Given the description of an element on the screen output the (x, y) to click on. 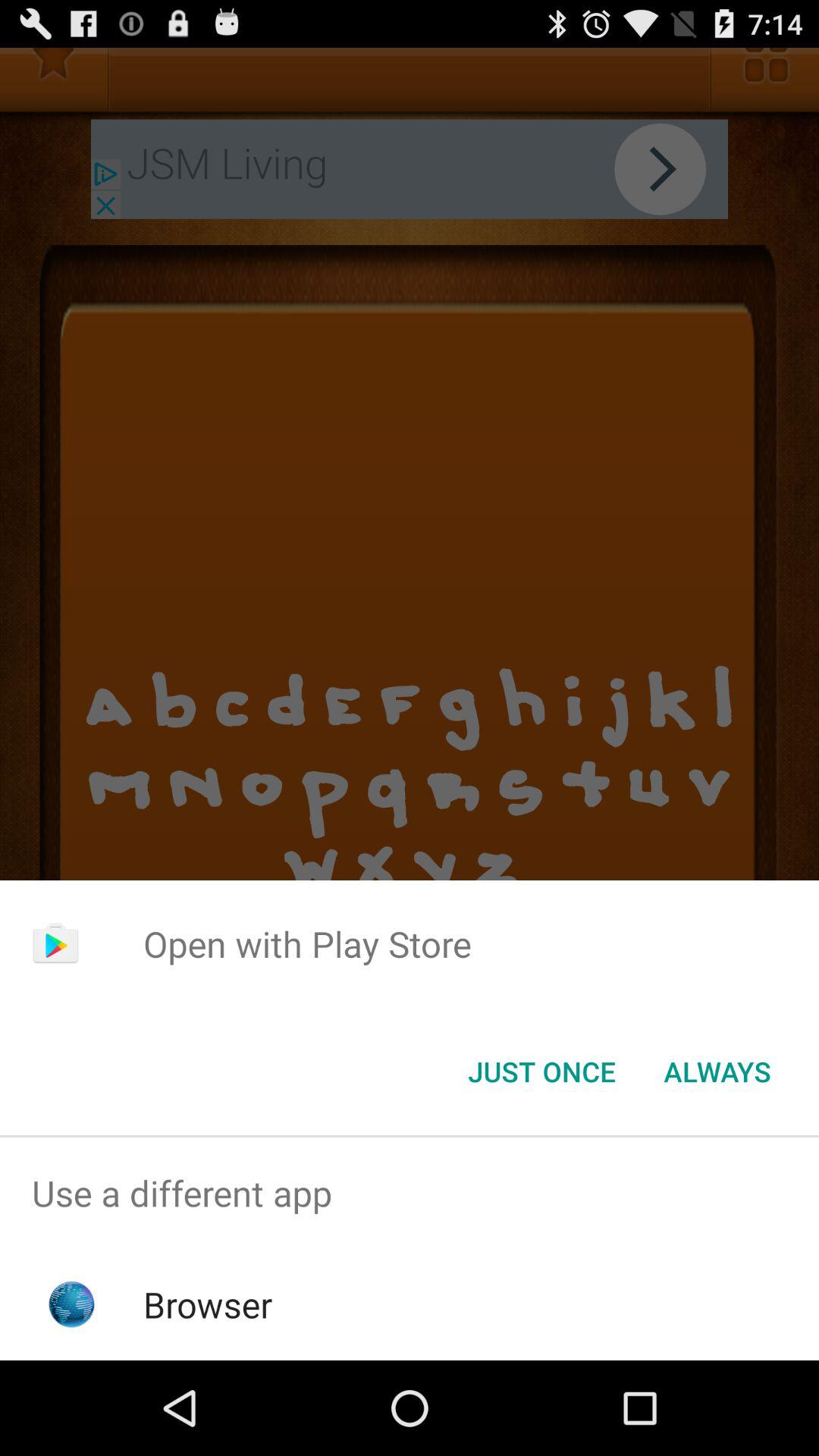
flip to the browser (207, 1304)
